Given the description of an element on the screen output the (x, y) to click on. 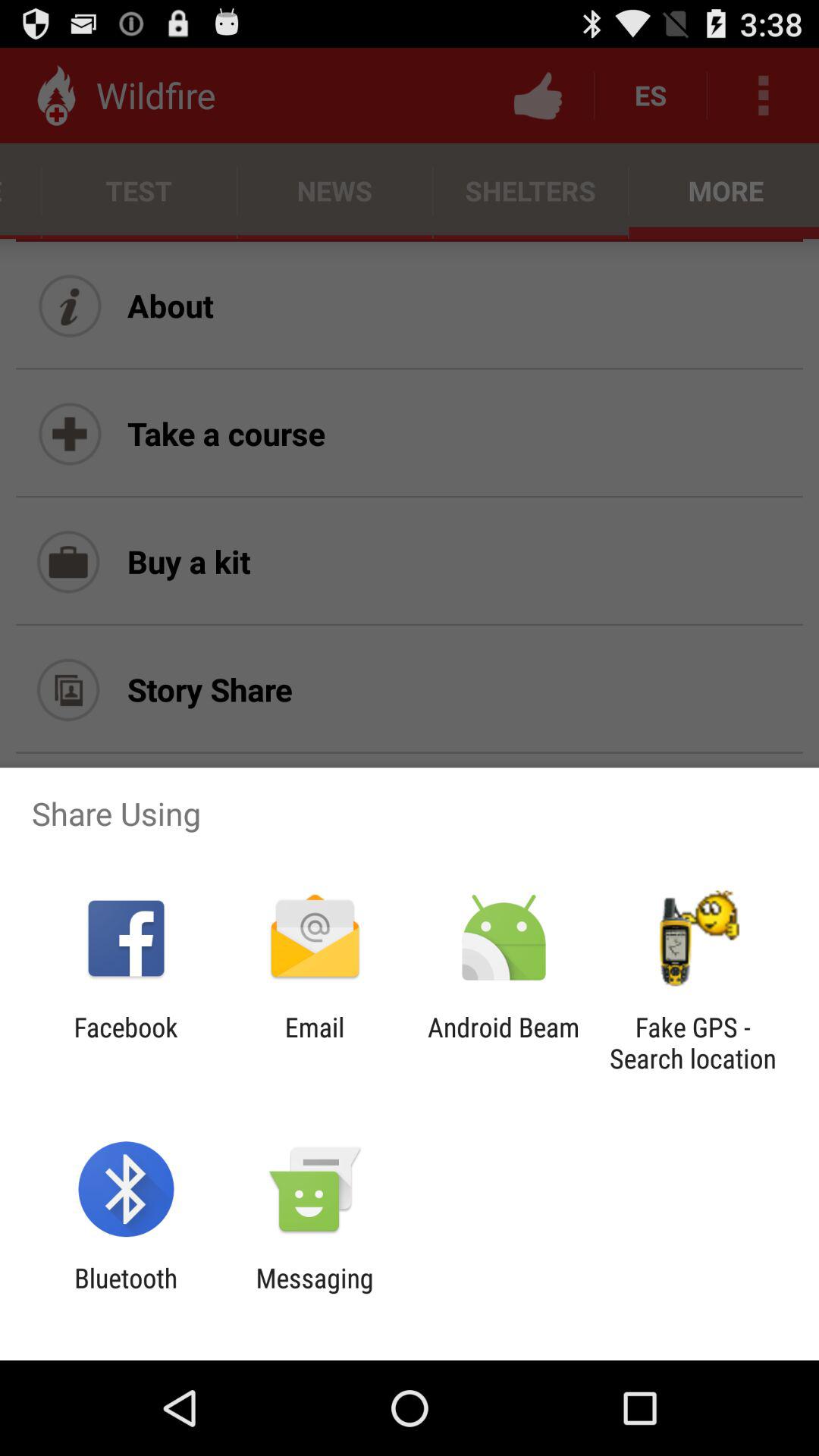
flip until the android beam icon (503, 1042)
